Given the description of an element on the screen output the (x, y) to click on. 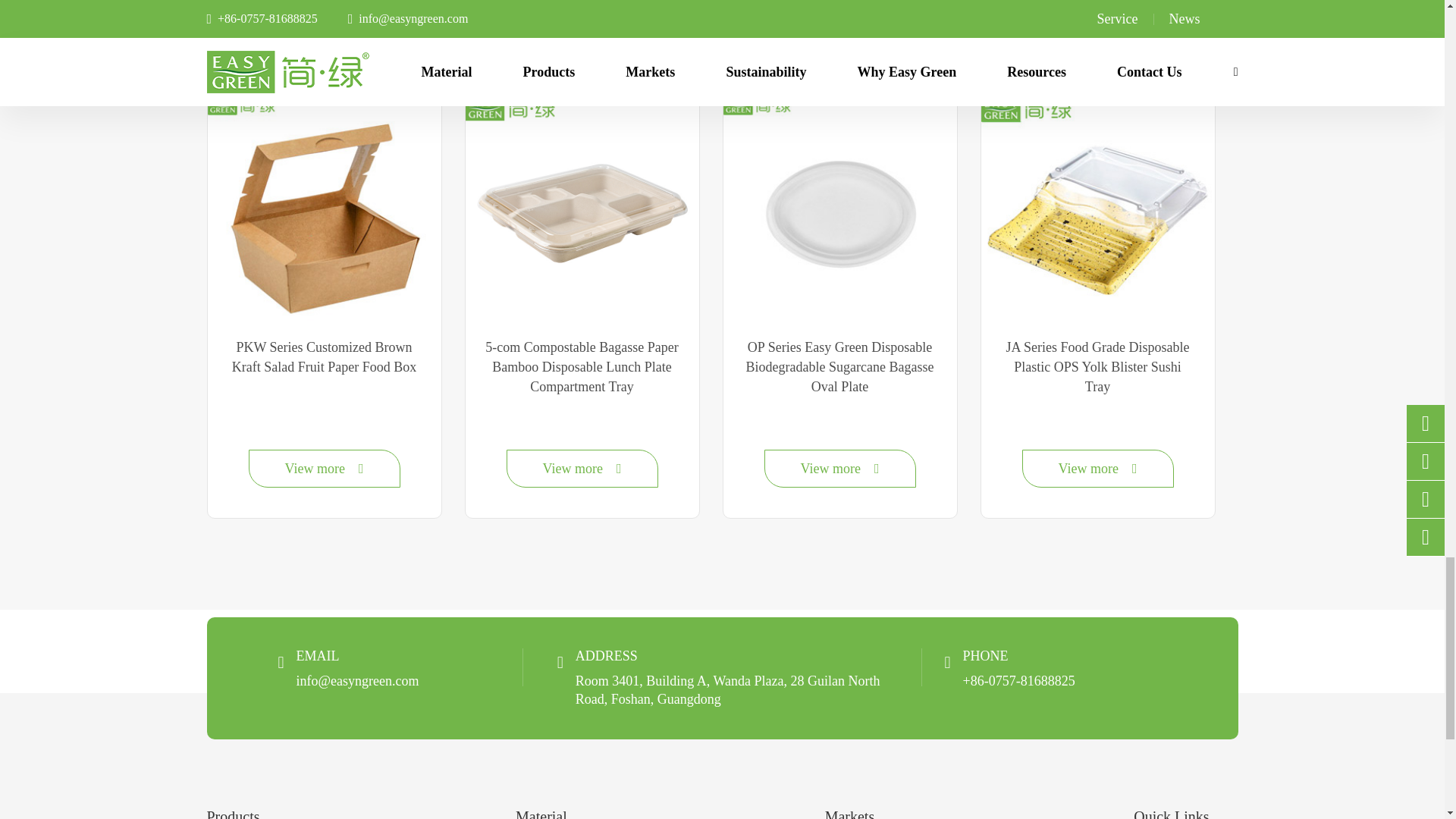
PKW Series Customized Brown Kraft Salad Fruit Paper Food Box (324, 213)
